Given the description of an element on the screen output the (x, y) to click on. 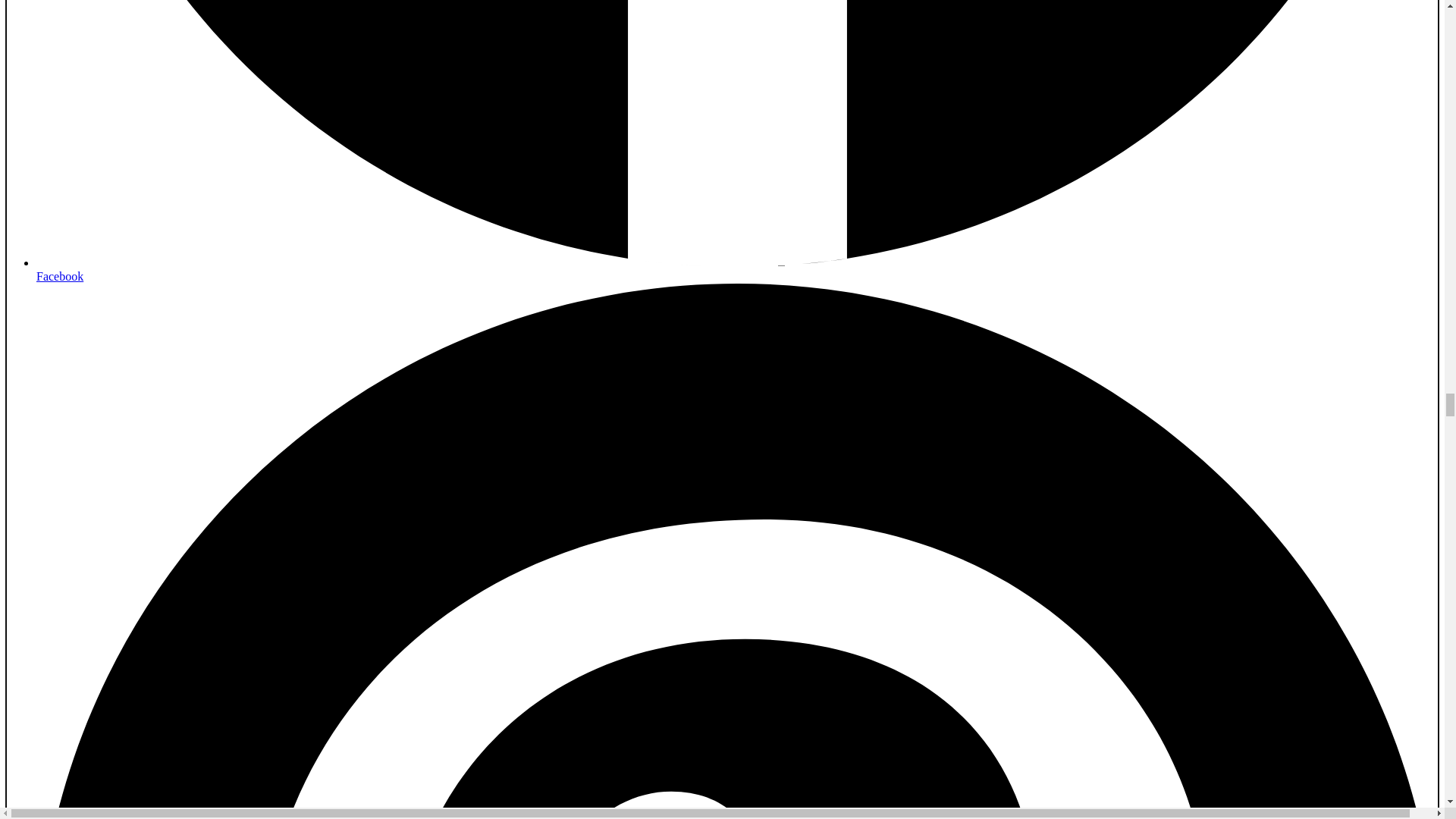
SCENTS Element type: text (69, 114)
BATH & BODY Element type: text (95, 398)
BODY WASH Element type: text (102, 442)
GIFT CARD Element type: text (83, 503)
HOUR GLASS Element type: text (104, 383)
BLEND N.2 Element type: text (97, 188)
BLEND N.4 Element type: text (97, 215)
BLEND N.5 Element type: text (97, 228)
Log in Element type: text (52, 547)
Instagram Element type: text (1268, 323)
Close menu Element type: text (40, 56)
Discovery Kit Element type: text (1179, 56)
ODDITIES Element type: text (77, 457)
BLEND N.10 Element type: text (100, 297)
REED DIFFUSER Element type: text (112, 342)
HOME FRAGRANCES Element type: text (125, 356)
BLEND N.1 Element type: text (97, 174)
TRAVEL KIT Element type: text (100, 488)
BLEND N.9 Element type: text (97, 283)
Facebook Element type: text (1268, 586)
Skip to content Element type: text (42, 12)
BLEND N.6 Element type: text (97, 242)
FRAGRANCE Element type: text (88, 130)
Discovery Kit Element type: text (70, 533)
Discovery Kit Element type: text (100, 160)
CANDLES Element type: text (94, 370)
ABOUT US Element type: text (79, 519)
HOME DECOR Element type: text (93, 312)
HAND RINSE Element type: text (102, 429)
BLEND N.8 Element type: text (97, 269)
BLEND N.7 Element type: text (97, 256)
BLEND N.3 Element type: text (97, 201)
